Given the description of an element on the screen output the (x, y) to click on. 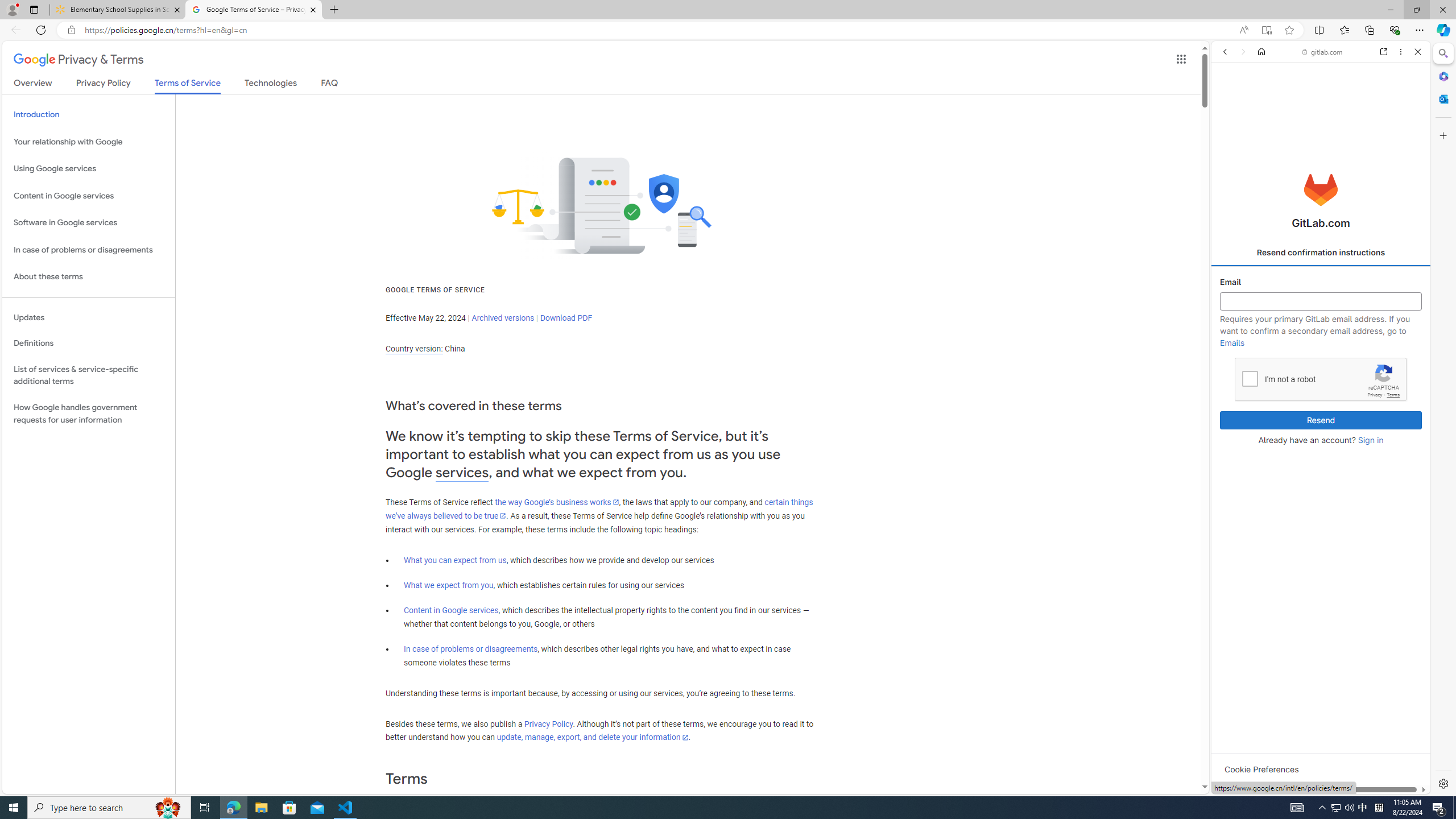
Introduction (88, 114)
Confirmation Page (1320, 389)
Google apps (1181, 58)
GitLab (1277, 794)
services (462, 472)
Updates (88, 317)
Terms of Service (187, 85)
Register Now (1320, 253)
What we expect from you (448, 584)
